Given the description of an element on the screen output the (x, y) to click on. 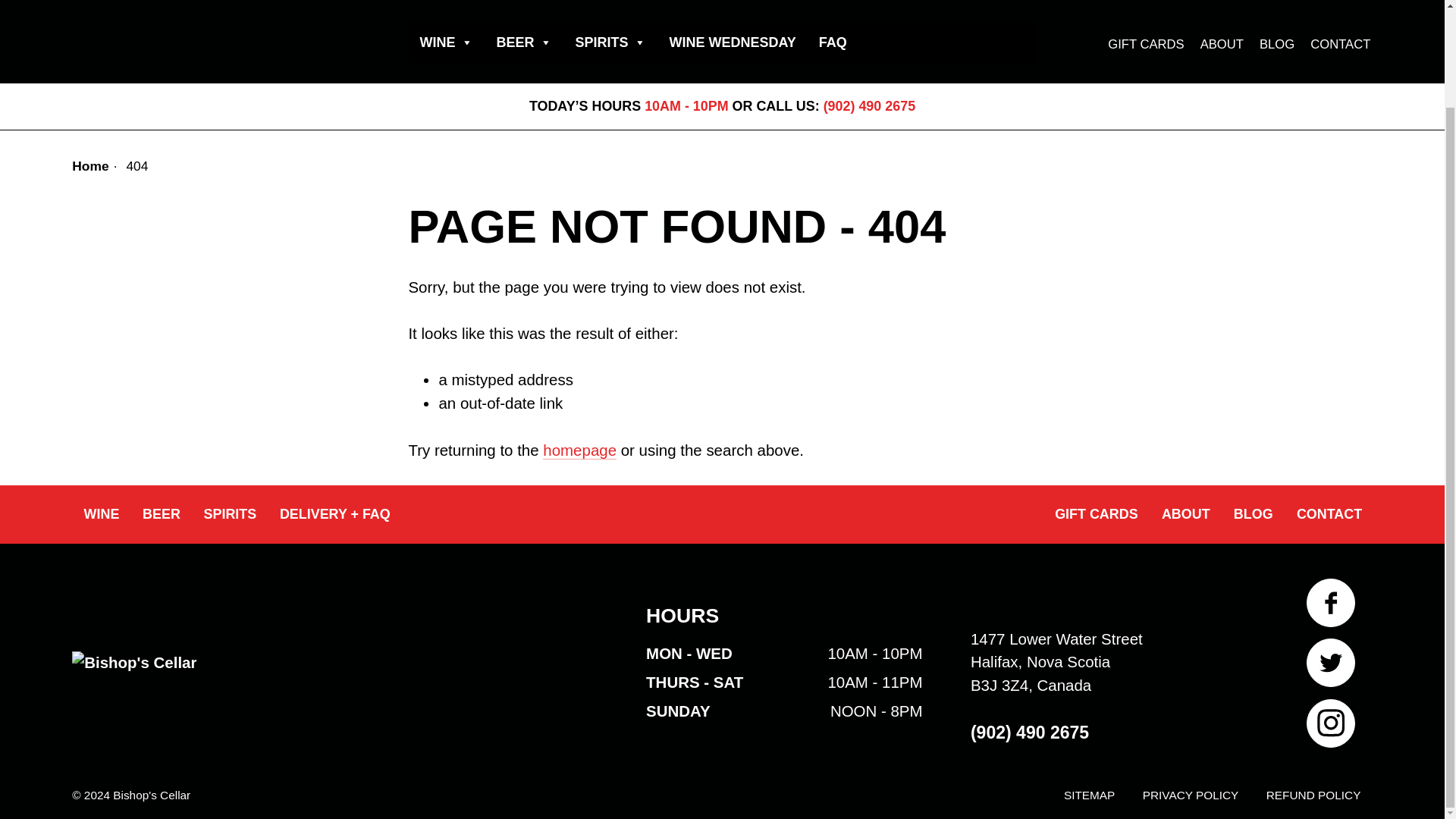
Bishop's Cellar (215, 24)
Bishop's Cellar (133, 672)
WINE (445, 42)
BEER (523, 42)
SHOP NOW (891, 0)
